Given the description of an element on the screen output the (x, y) to click on. 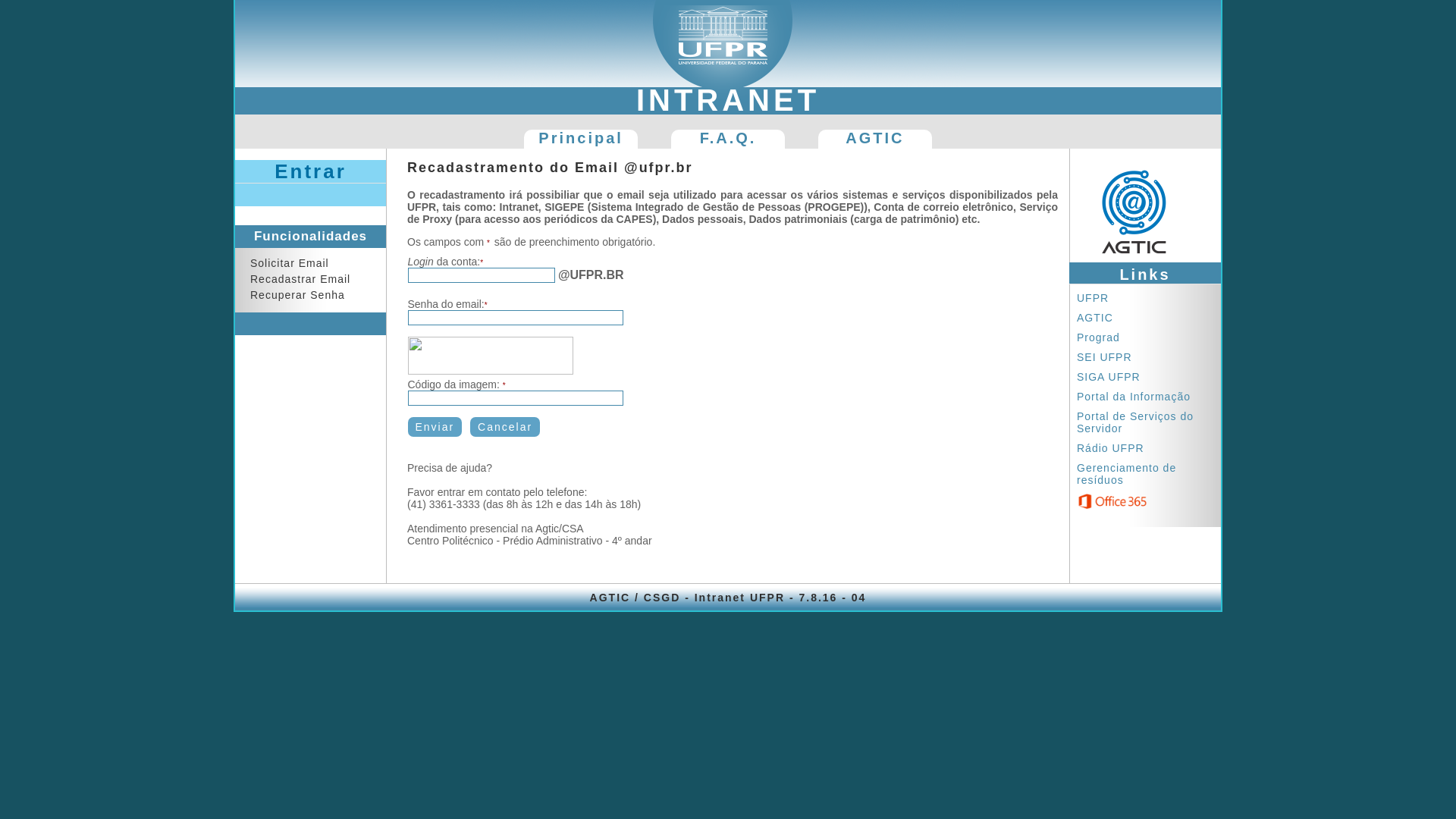
Recadastrar Email Element type: text (300, 279)
SIGA UFPR Element type: text (1112, 376)
AGTIC Element type: text (874, 138)
Enviar Element type: text (434, 426)
INTRANET Element type: text (727, 99)
Links Element type: text (1144, 273)
Solicitar Email Element type: text (289, 263)
Cancelar Element type: text (504, 426)
Prograd Element type: text (1101, 337)
F.A.Q. Element type: text (727, 138)
Entrar Element type: text (310, 171)
UFPR Element type: text (1096, 297)
AGTIC / CSGD - Intranet UFPR - 7.8.16 - 04 Element type: text (727, 597)
Principal Element type: text (580, 138)
Recuperar Senha Element type: text (297, 294)
AGTIC Element type: text (1098, 317)
SEI UFPR Element type: text (1107, 357)
